Given the description of an element on the screen output the (x, y) to click on. 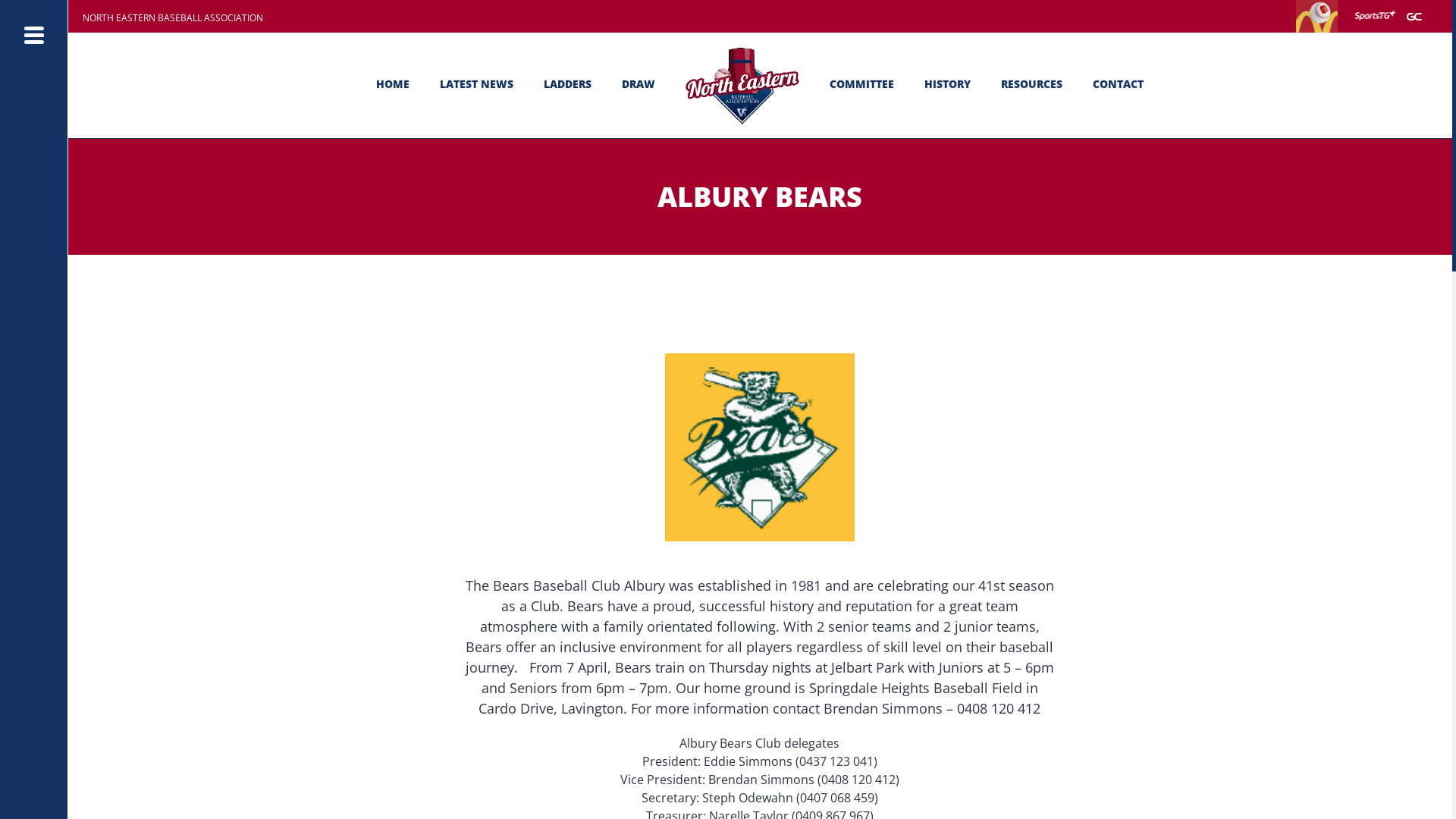
HISTORY Element type: text (947, 84)
COMMITTEE Element type: text (861, 84)
RESOURCES Element type: text (1031, 84)
LADDERS Element type: text (567, 84)
HOME Element type: text (392, 84)
CONTACT Element type: text (1117, 84)
DRAW Element type: text (638, 84)
LATEST NEWS Element type: text (476, 84)
